Given the description of an element on the screen output the (x, y) to click on. 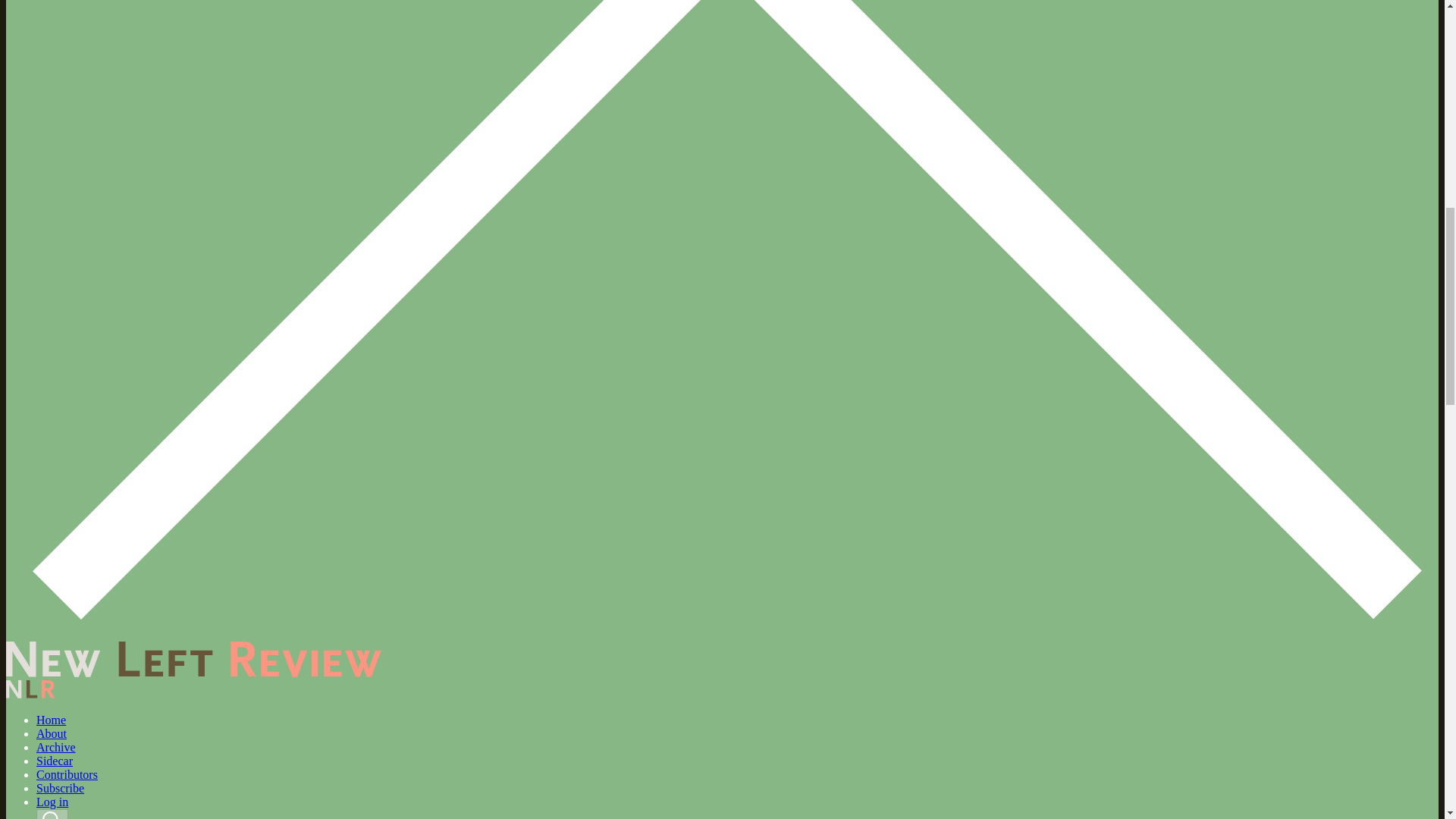
Home (50, 719)
Log in (52, 801)
Sidecar (54, 760)
Subscribe (60, 788)
New Left Review (193, 659)
Contributors (66, 774)
New Left Review (193, 672)
Archive (55, 747)
About (51, 733)
